Given the description of an element on the screen output the (x, y) to click on. 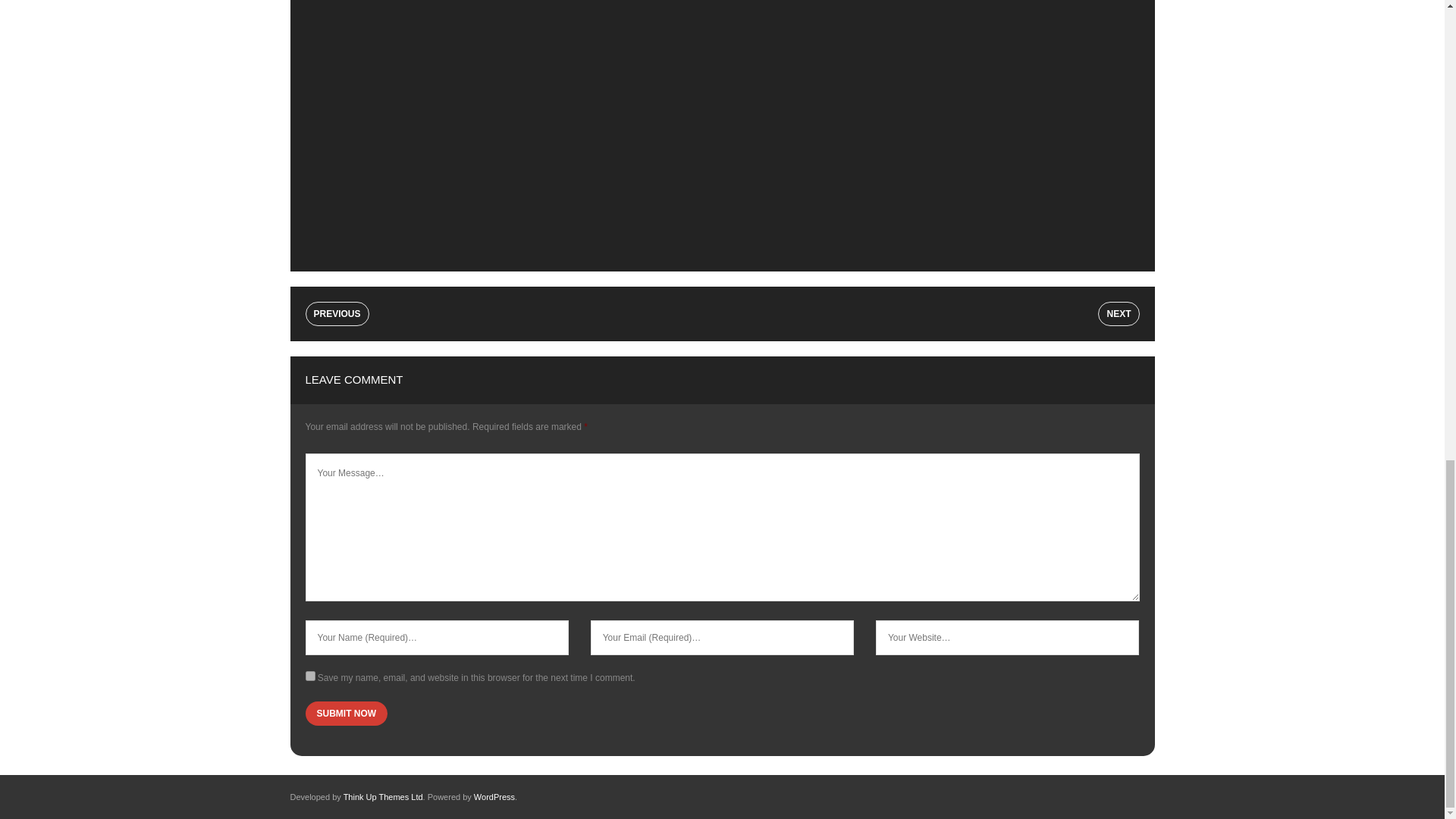
WordPress (494, 796)
Submit Now (345, 713)
yes (309, 675)
PREVIOUS (336, 313)
Submit Now (345, 713)
NEXT (1117, 313)
Think Up Themes Ltd (383, 796)
